Given the description of an element on the screen output the (x, y) to click on. 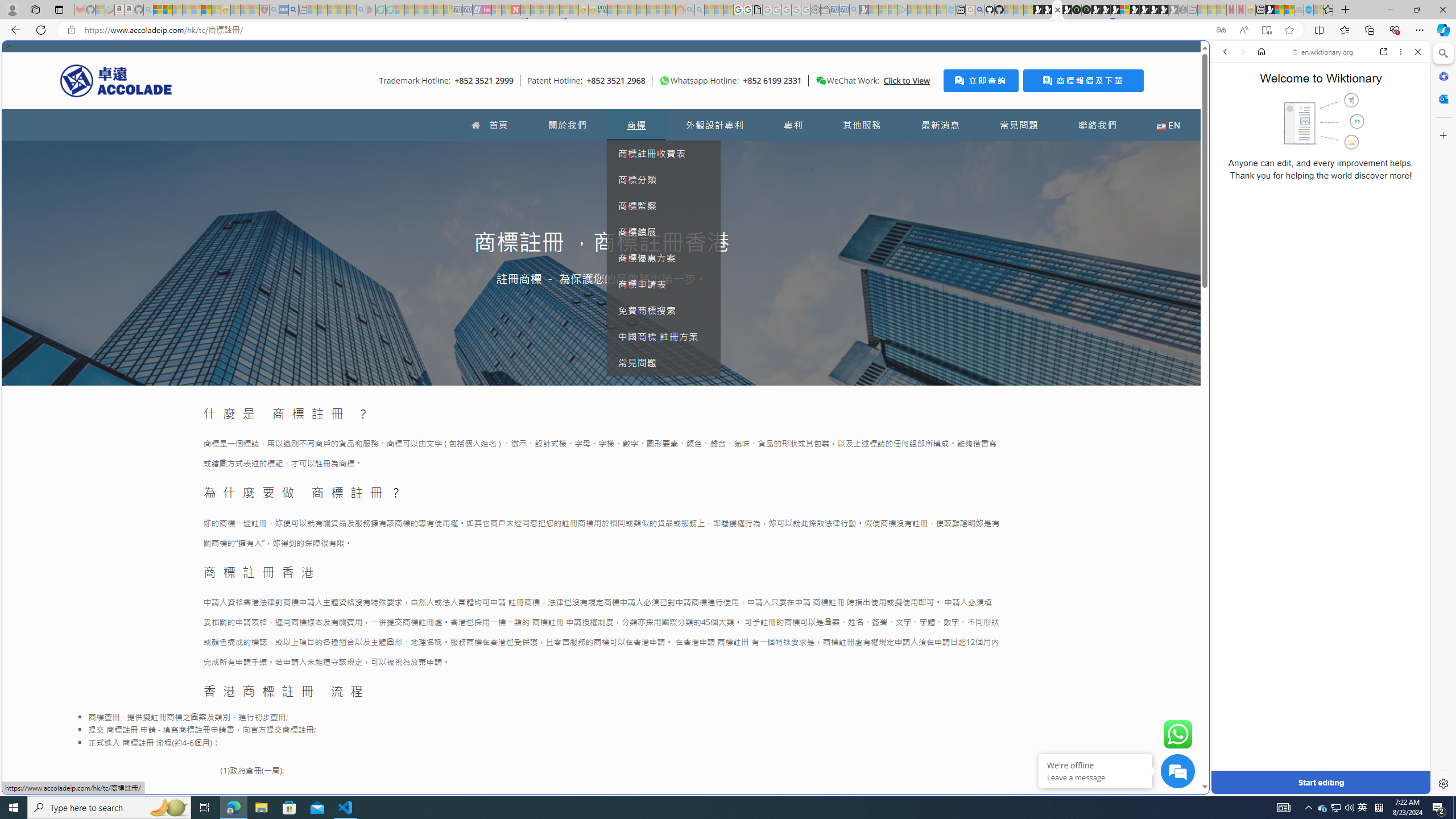
Accolade IP HK Logo (116, 80)
Bluey: Let's Play! - Apps on Google Play - Sleeping (370, 9)
Microsoft-Report a Concern to Bing - Sleeping (99, 9)
Preferences (1403, 129)
Sign in to your account (1124, 9)
Class: b_serphb (1404, 130)
